Given the description of an element on the screen output the (x, y) to click on. 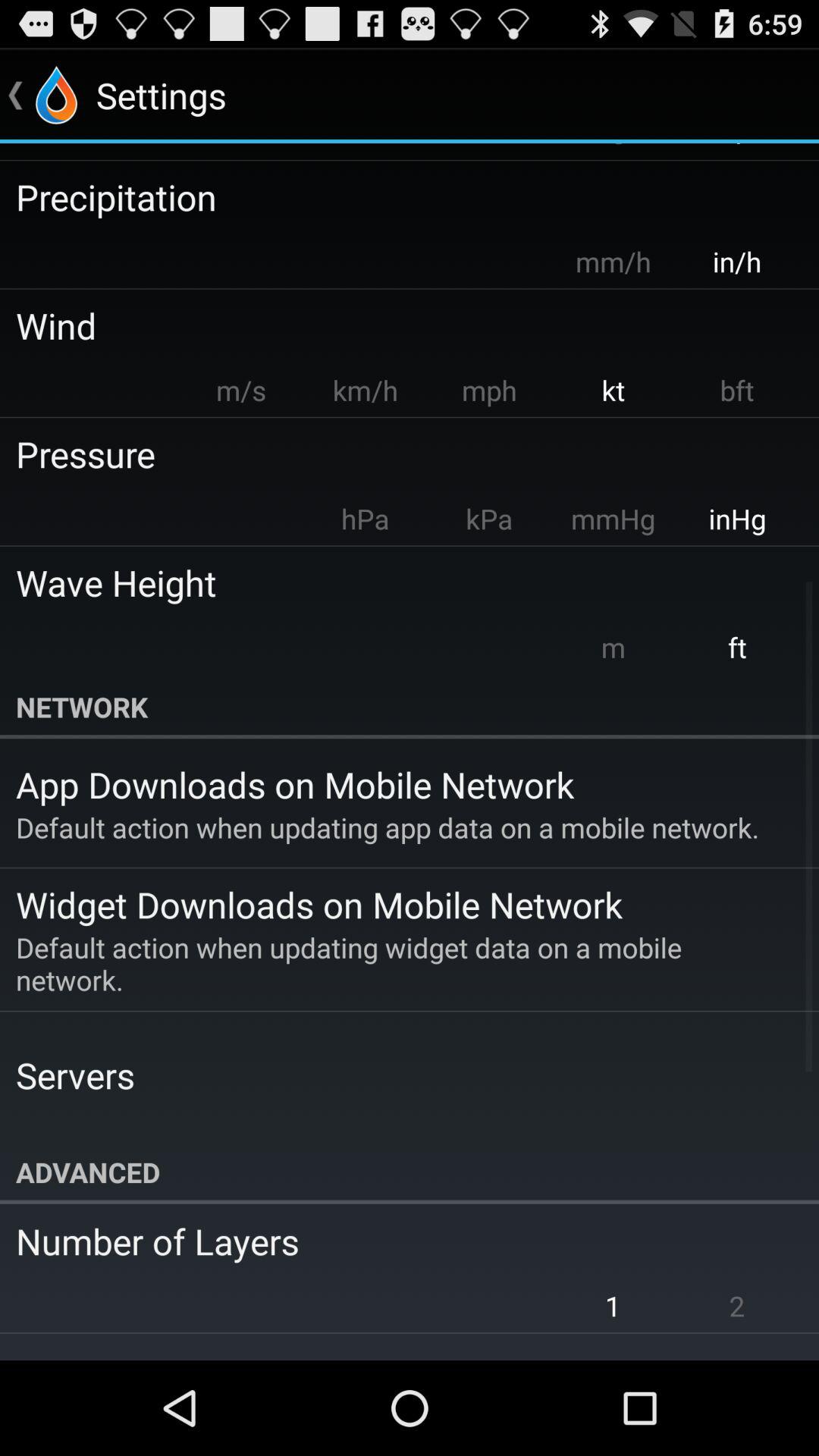
open the app to the right of the mph (613, 389)
